Given the description of an element on the screen output the (x, y) to click on. 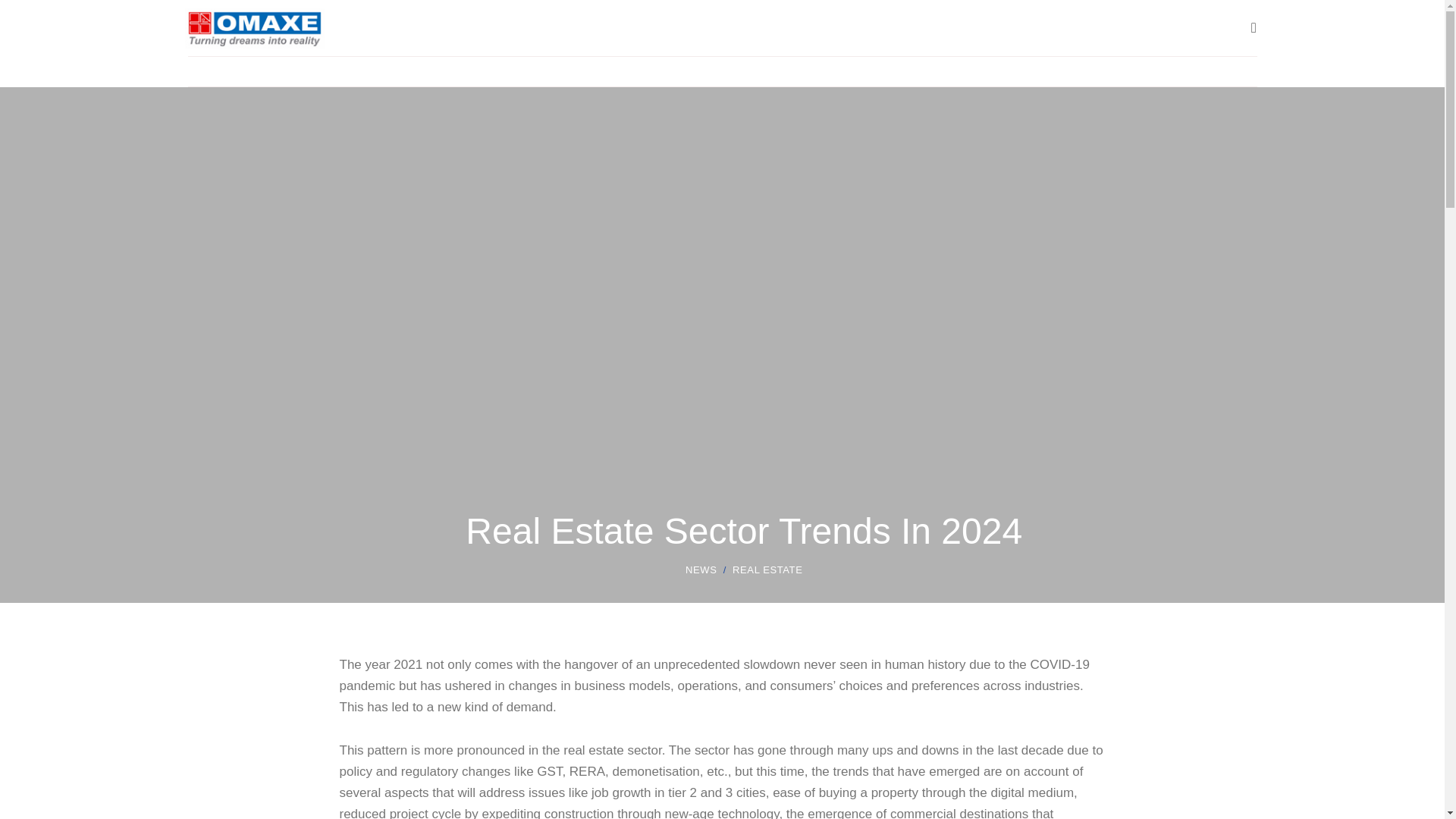
NEWS (700, 569)
REAL ESTATE (761, 569)
